Given the description of an element on the screen output the (x, y) to click on. 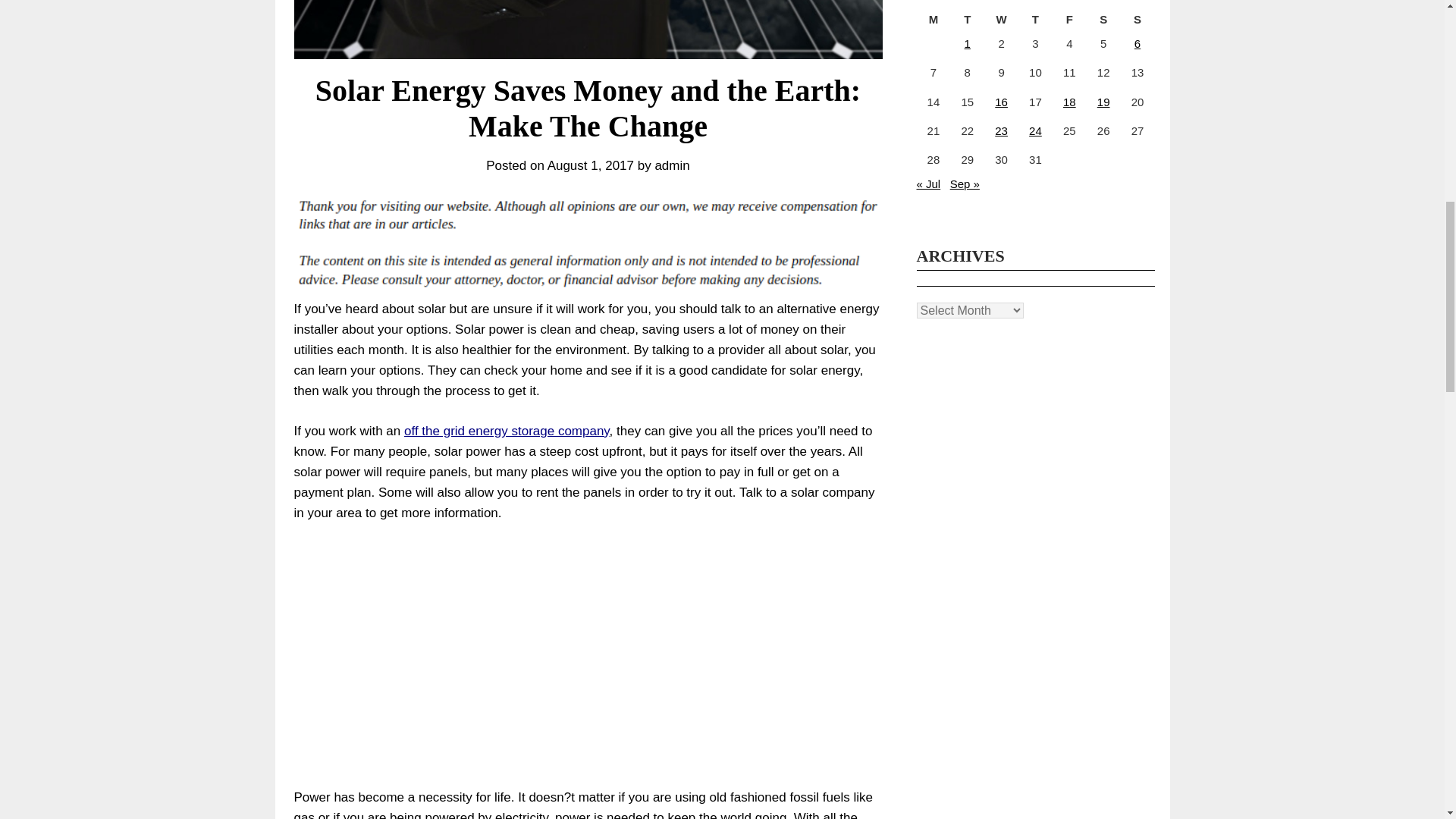
Saturday (1103, 19)
Tuesday (967, 19)
23 (1000, 130)
16 (1000, 101)
YouTube video player (506, 642)
admin (670, 165)
Wednesday (1000, 19)
Monday (932, 19)
24 (1035, 130)
Thursday (1034, 19)
off the grid energy storage company (507, 431)
18 (1068, 101)
Sunday (1137, 19)
Friday (1069, 19)
19 (1103, 101)
